Given the description of an element on the screen output the (x, y) to click on. 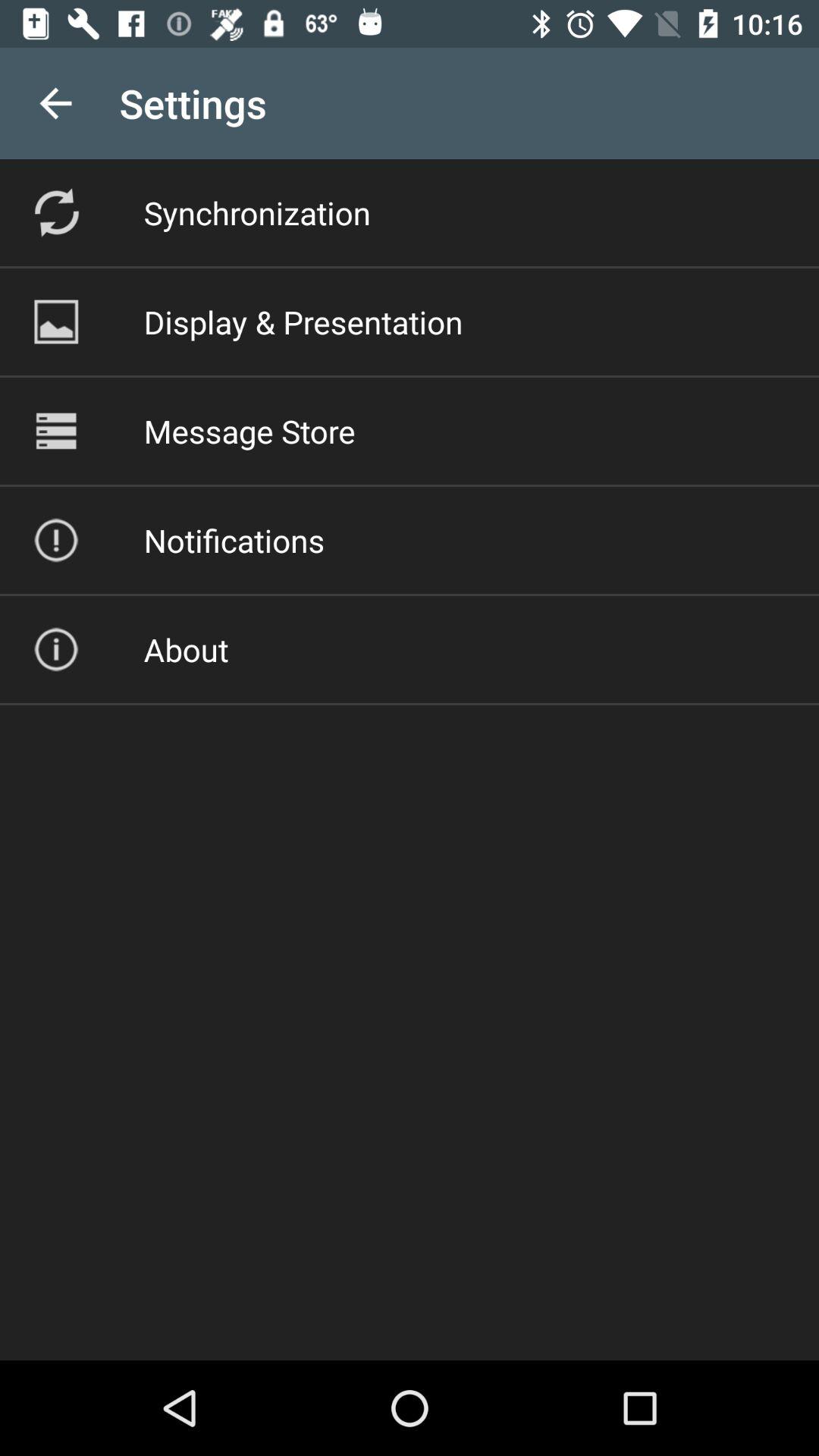
select about icon (185, 649)
